Given the description of an element on the screen output the (x, y) to click on. 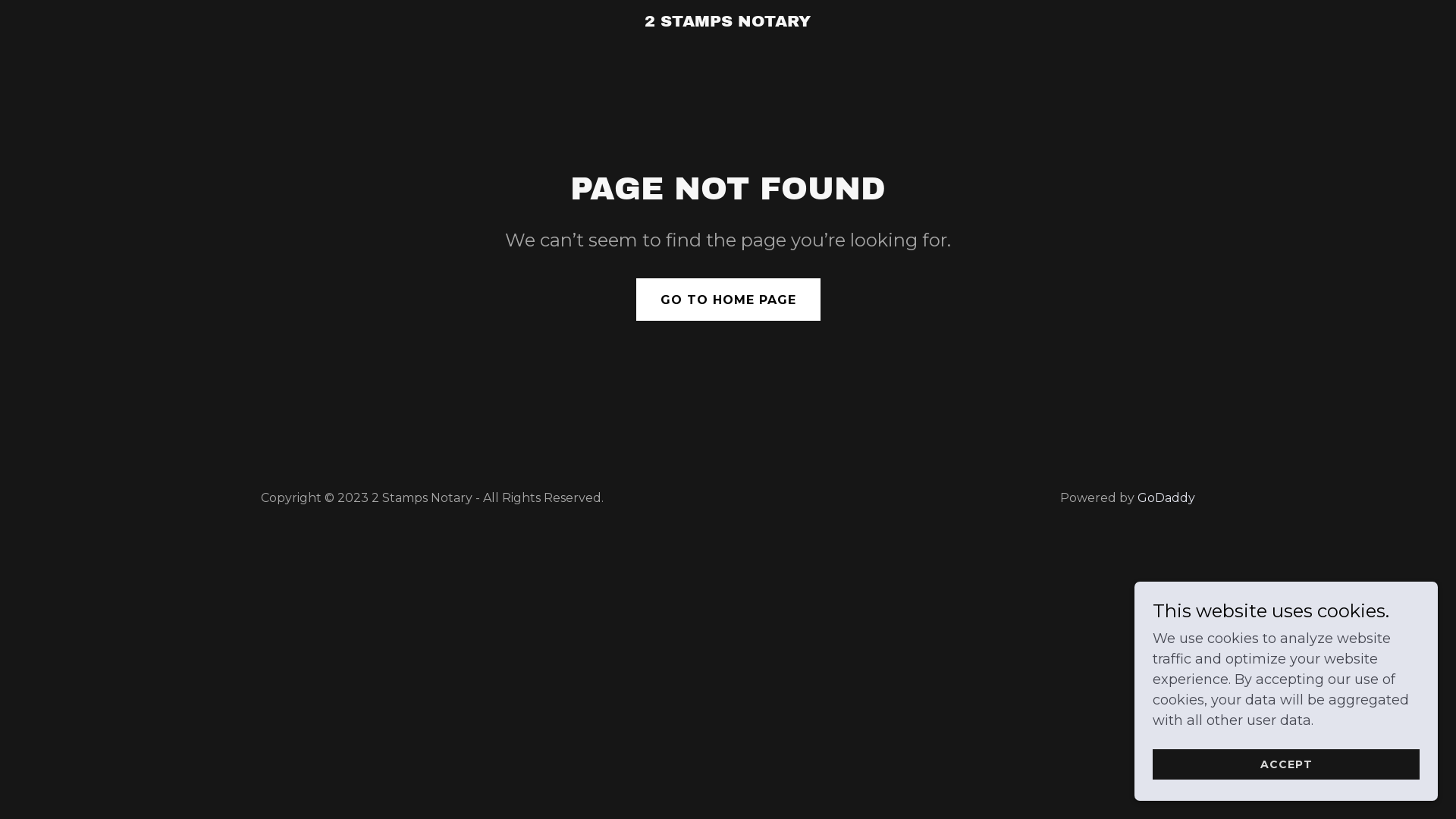
GoDaddy Element type: text (1166, 497)
2 STAMPS NOTARY Element type: text (728, 21)
ACCEPT Element type: text (1285, 764)
GO TO HOME PAGE Element type: text (727, 299)
